Given the description of an element on the screen output the (x, y) to click on. 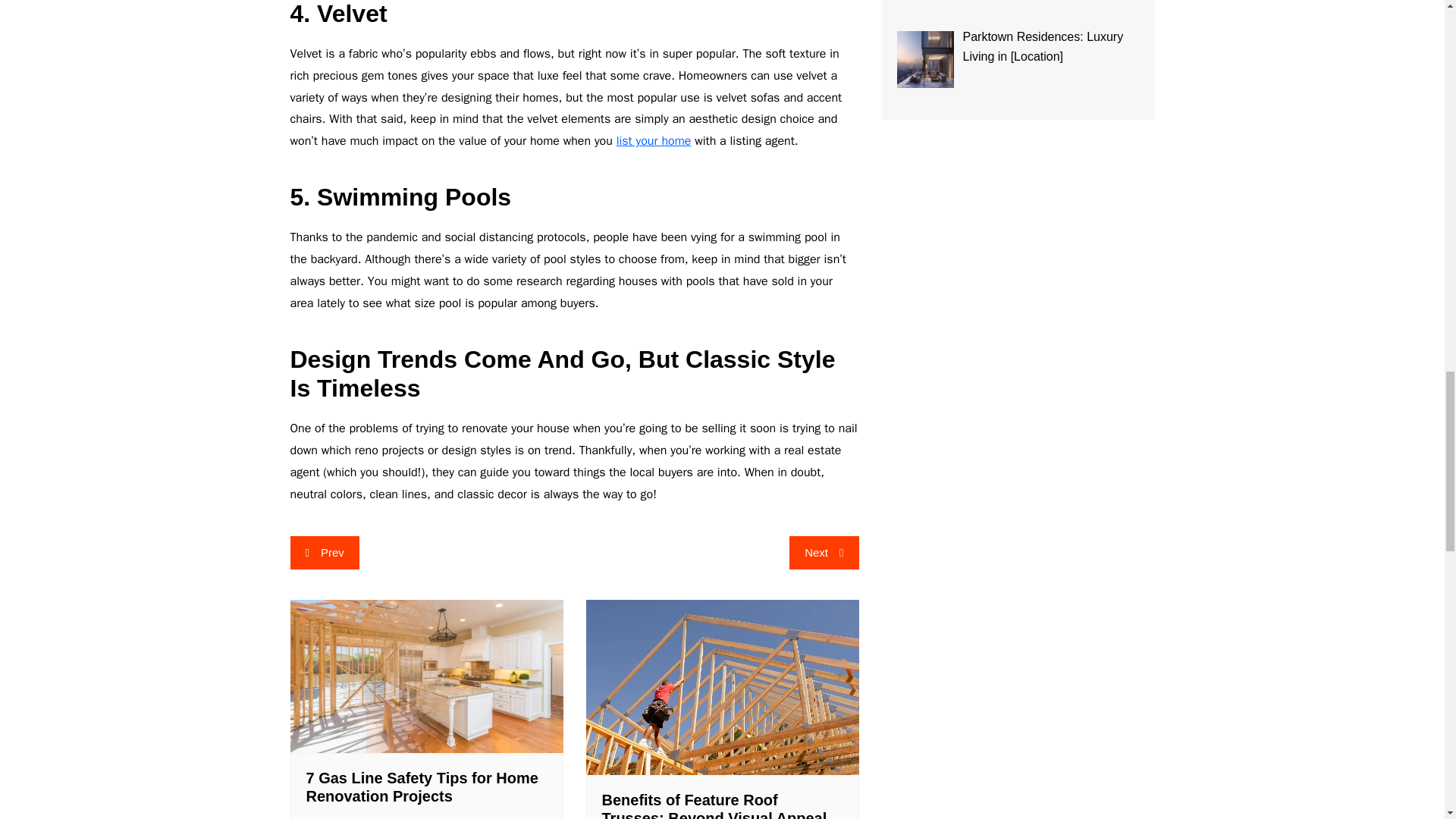
7 Gas Line Safety Tips for Home Renovation Projects (425, 675)
roof trusses (722, 685)
